Given the description of an element on the screen output the (x, y) to click on. 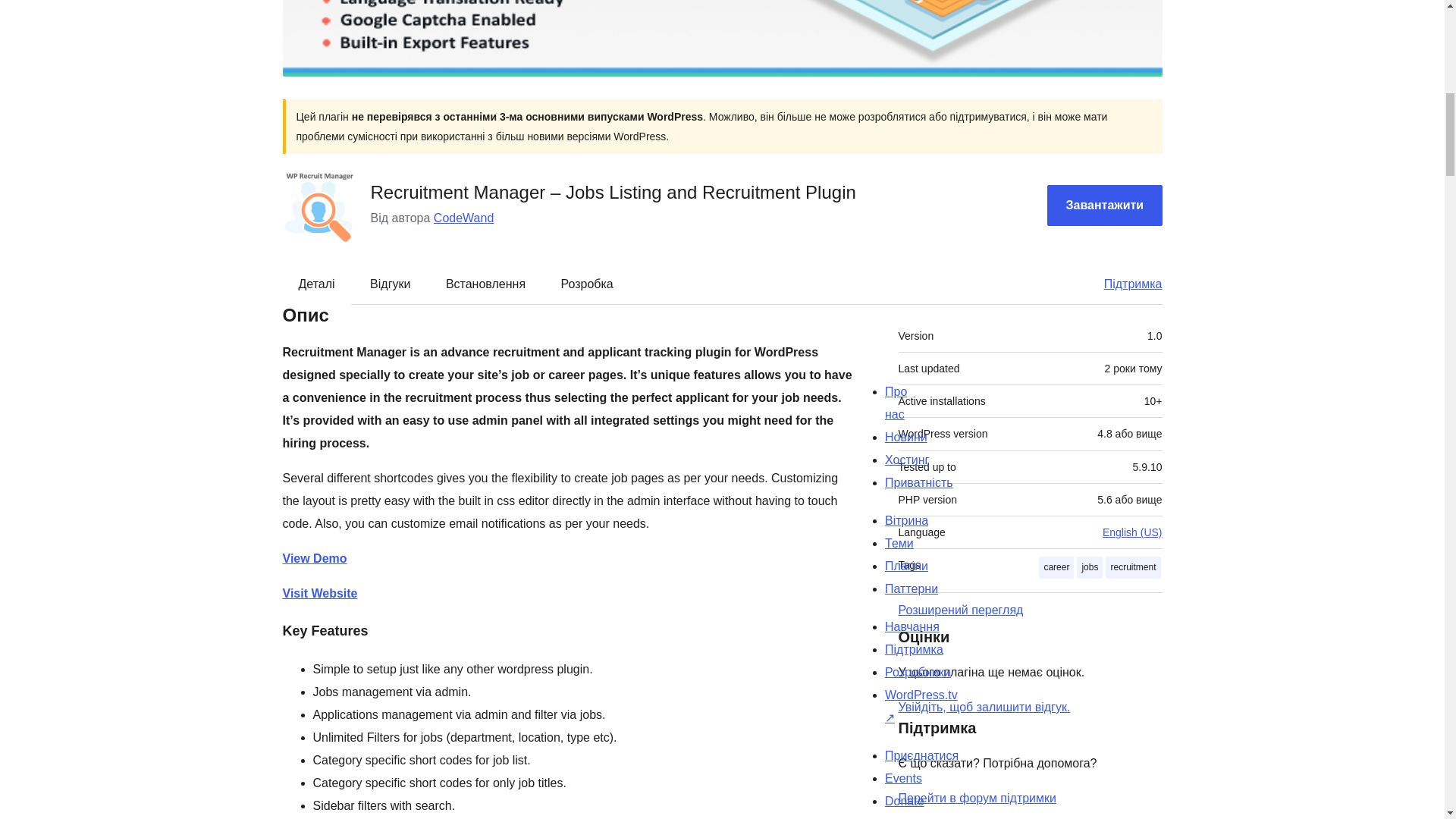
View Demo (314, 558)
Visit Website (319, 593)
CodeWand (463, 216)
